Given the description of an element on the screen output the (x, y) to click on. 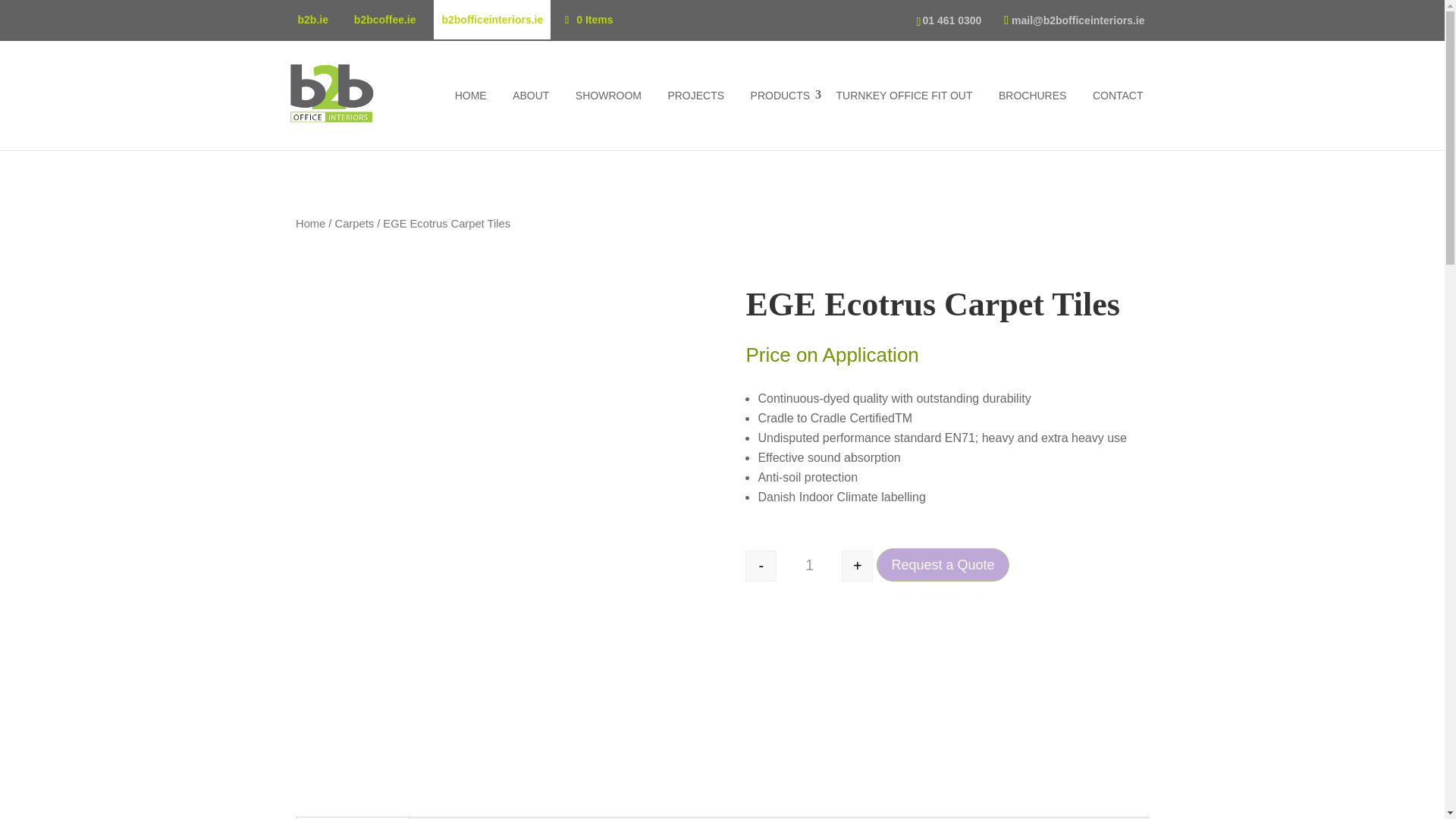
01 461 0300 (951, 20)
b2bofficeinteriors.ie (492, 19)
b2bcoffee.ie (384, 19)
b2b.ie (312, 19)
Qty (808, 565)
1 (808, 565)
0 Items (587, 19)
TURNKEY OFFICE FIT OUT (904, 94)
